Given the description of an element on the screen output the (x, y) to click on. 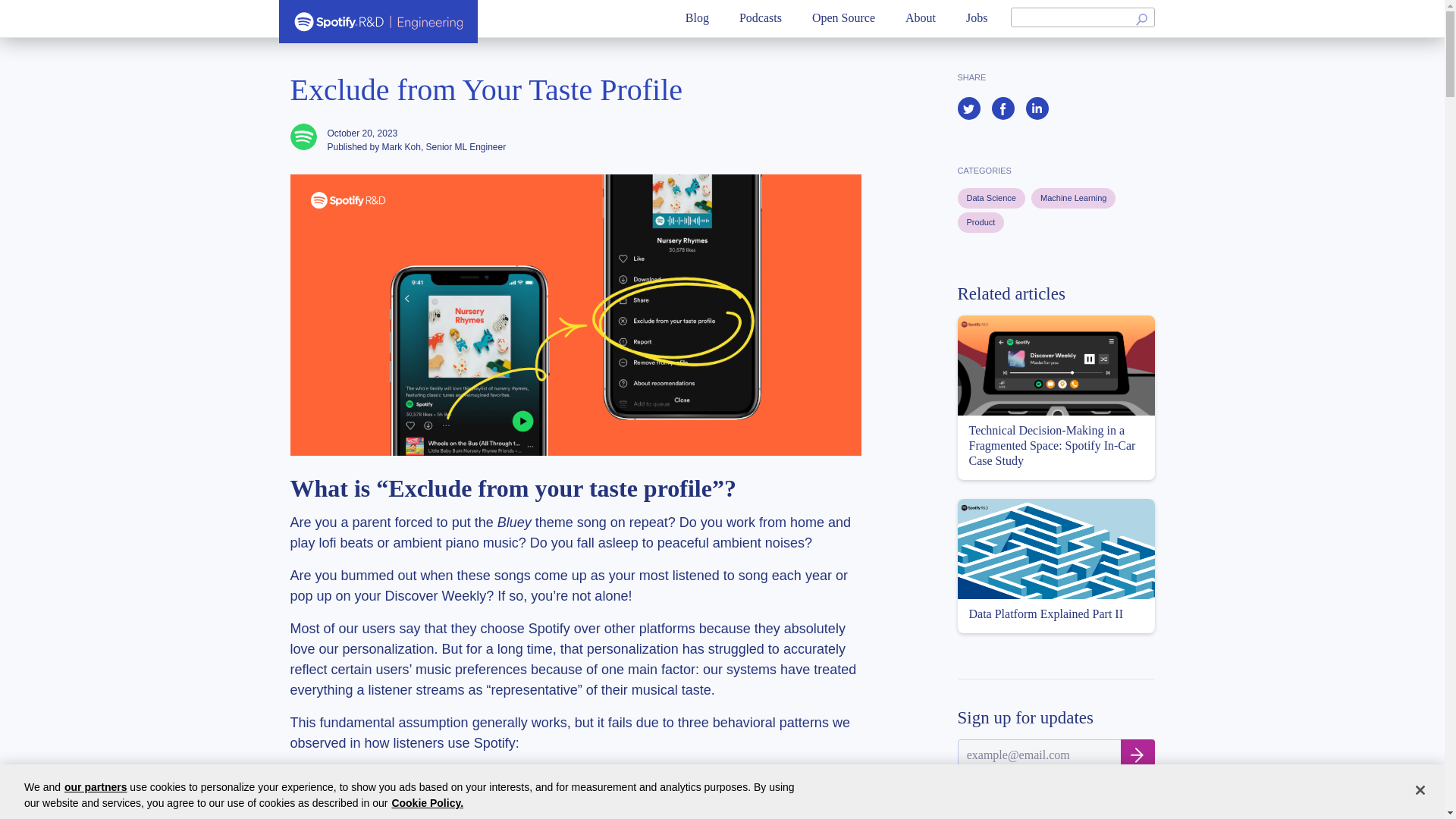
Blog (697, 18)
Data Platform Explained Part II  (1055, 565)
Podcasts (760, 18)
Open Source (843, 18)
Search for: (1070, 17)
Machine Learning (1072, 198)
Product (980, 222)
Data Science (990, 198)
Search (1141, 17)
Jobs (976, 18)
About (920, 18)
